Given the description of an element on the screen output the (x, y) to click on. 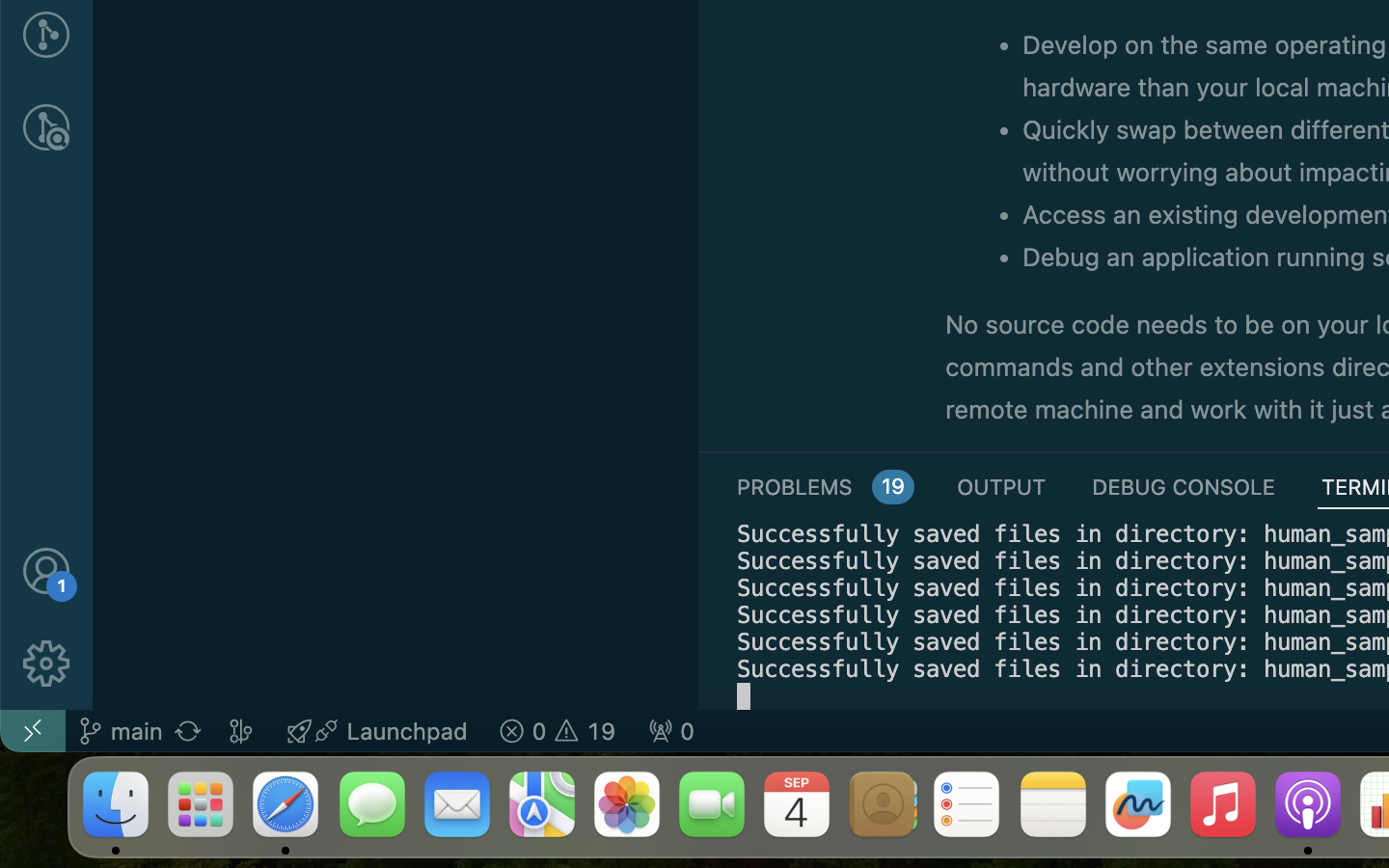
Launchpad   Element type: AXButton (376, 730)
 0 Element type: AXButton (671, 730)
0 PROBLEMS 19 Element type: AXRadioButton (824, 485)
 Element type: AXStaticText (46, 663)
main  Element type: AXButton (120, 730)
